Given the description of an element on the screen output the (x, y) to click on. 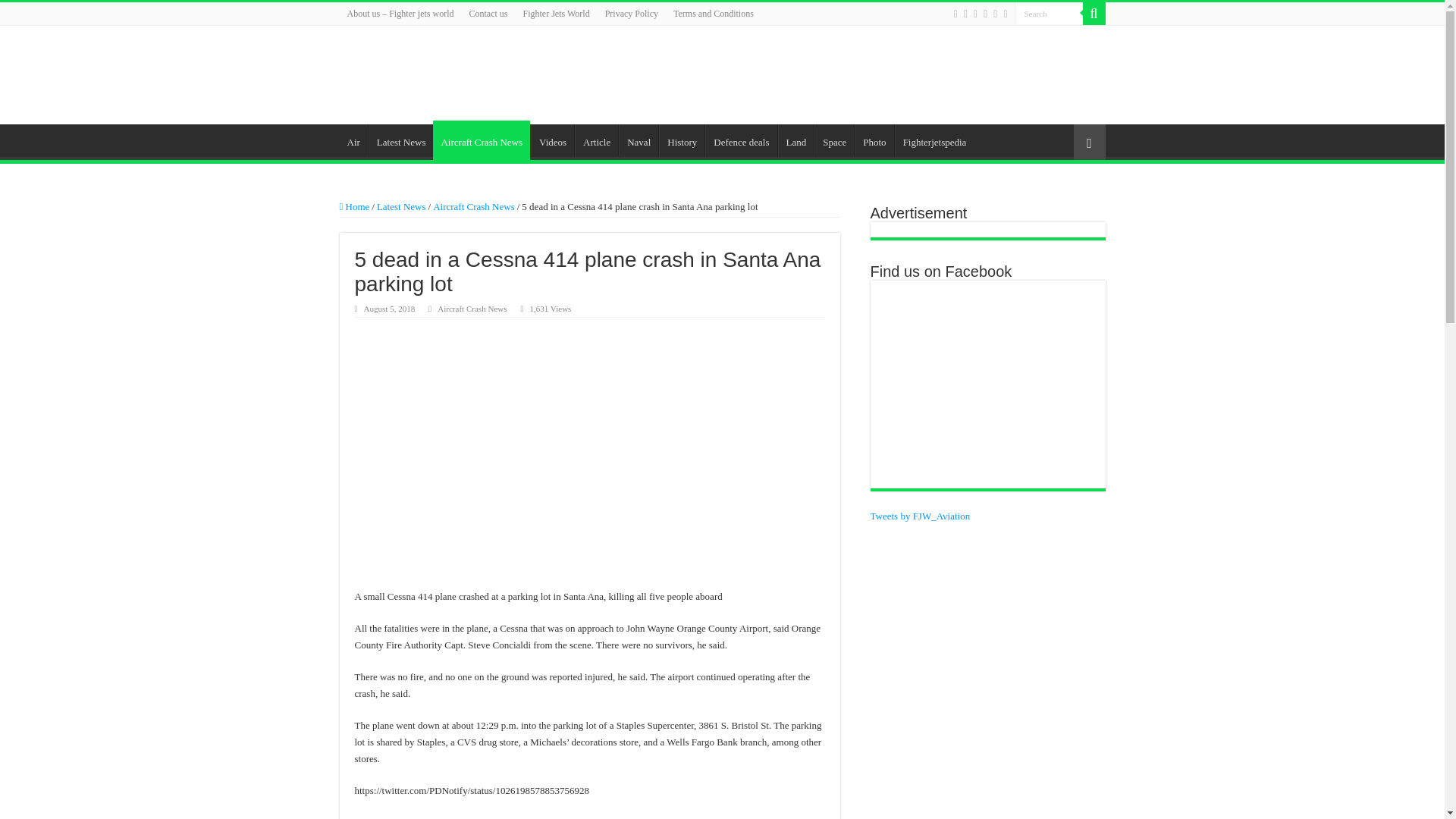
Search (1048, 13)
Terms and Conditions (713, 13)
Aircraft Crash News (473, 206)
Land (795, 140)
Fighterjetspedia (934, 140)
Contact us (488, 13)
Naval (638, 140)
Videos (552, 140)
Search (1048, 13)
Space (833, 140)
